Given the description of an element on the screen output the (x, y) to click on. 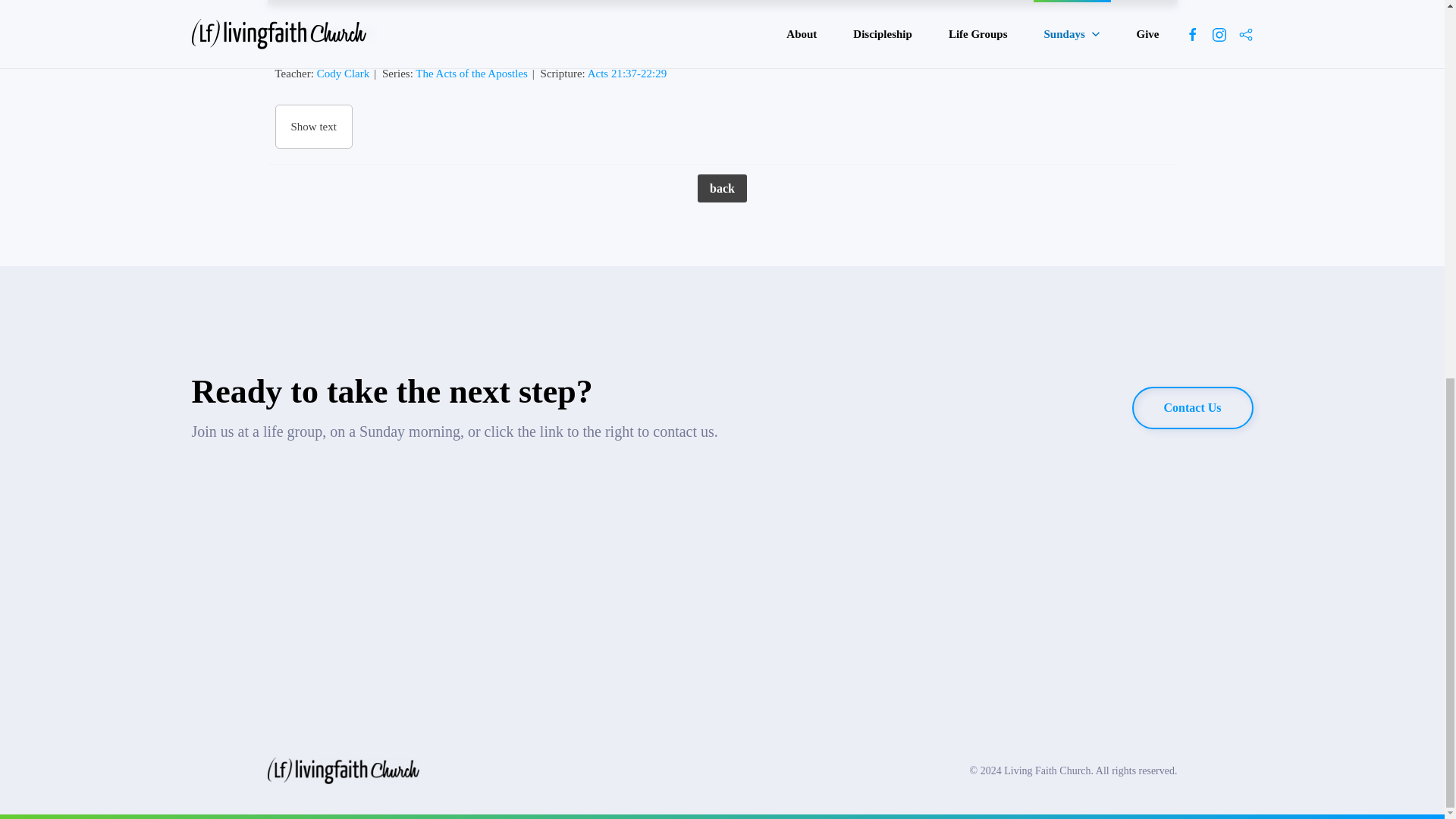
Cody Clark (343, 73)
back (721, 188)
Acts 21:37-22:29 (627, 73)
The Acts of the Apostles (470, 73)
Contact Us (1192, 407)
